Given the description of an element on the screen output the (x, y) to click on. 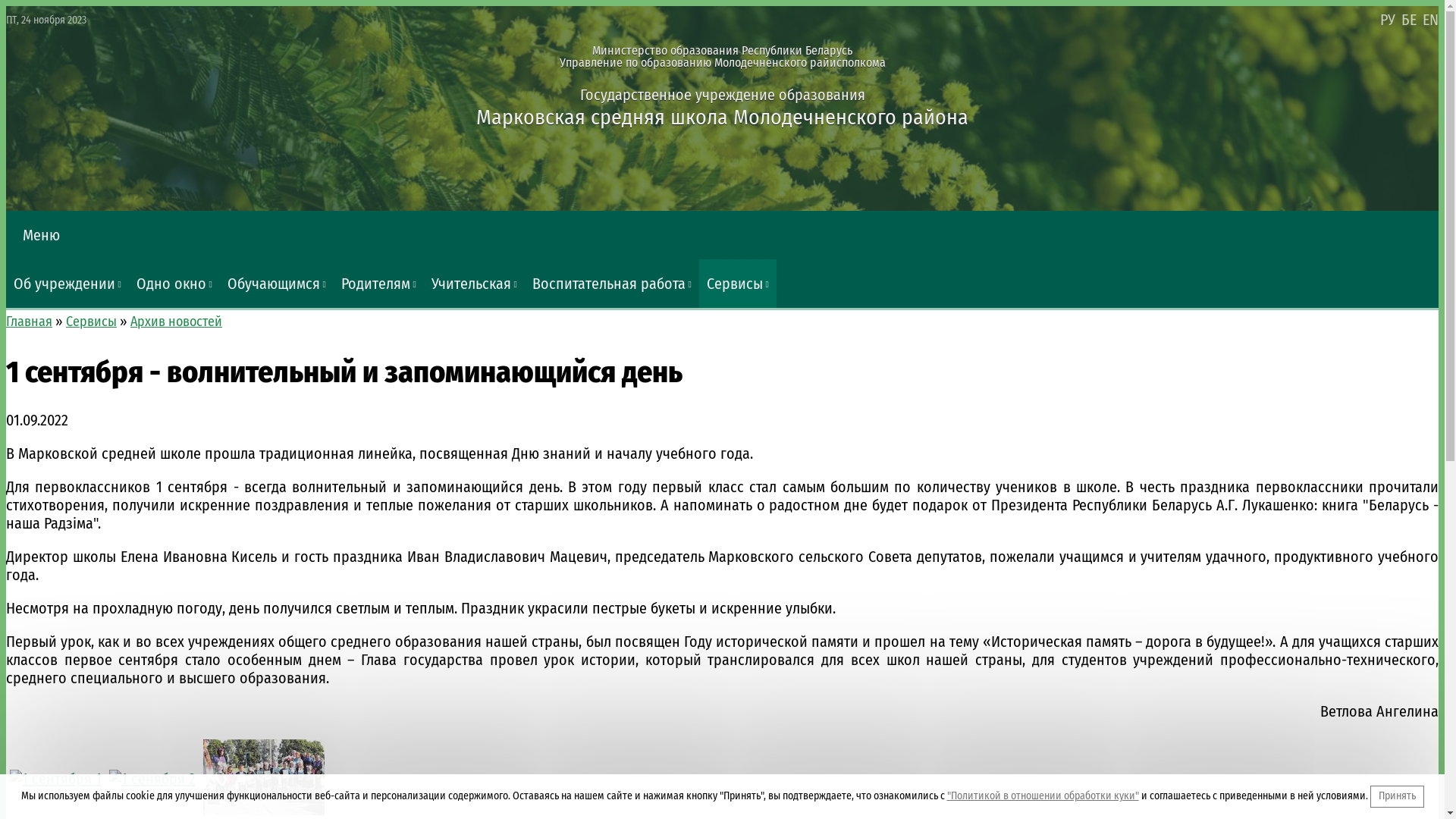
EN Element type: text (1430, 19)
